Given the description of an element on the screen output the (x, y) to click on. 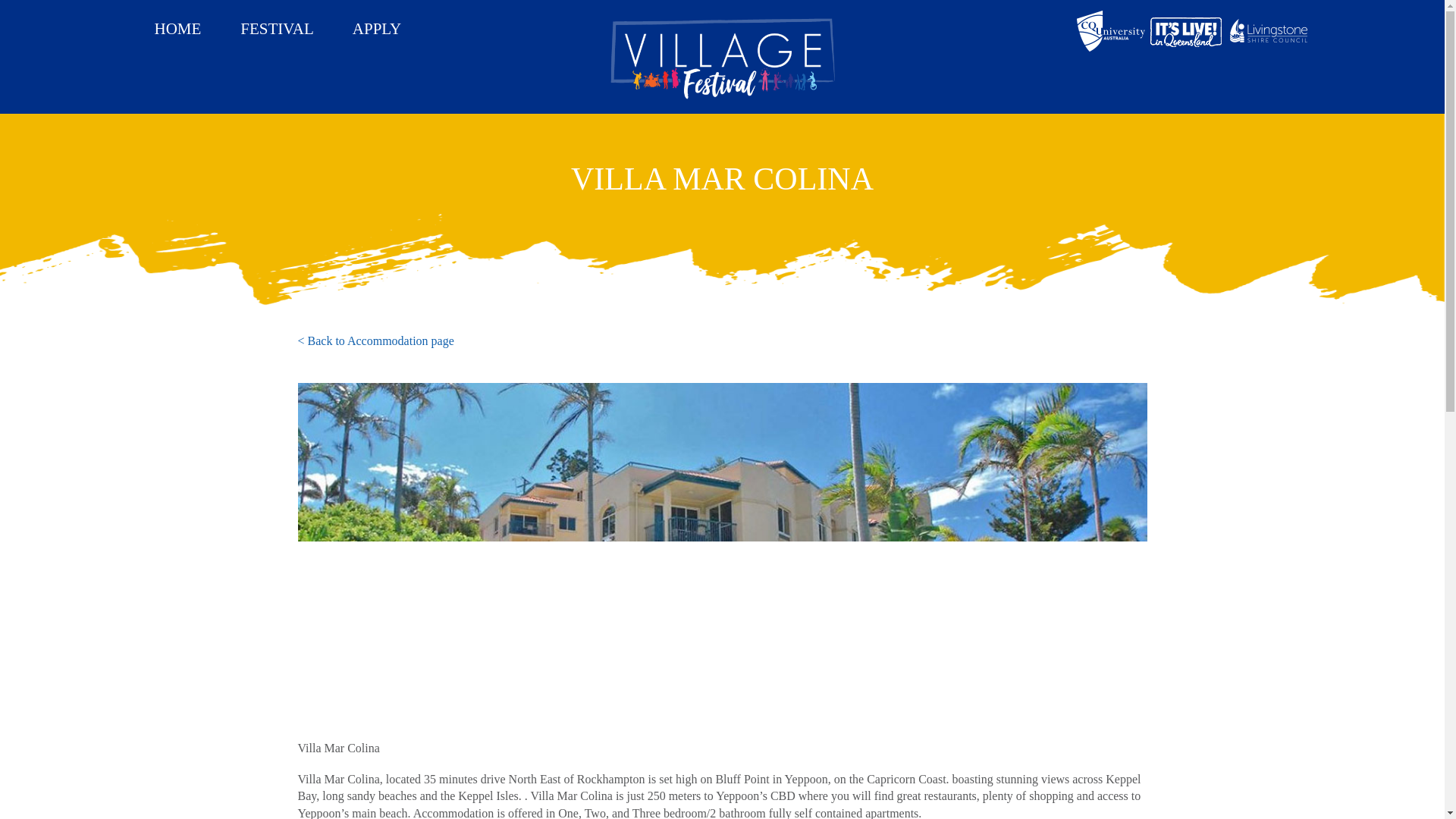
APPLY (376, 29)
FESTIVAL (276, 29)
HOME (178, 29)
